Given the description of an element on the screen output the (x, y) to click on. 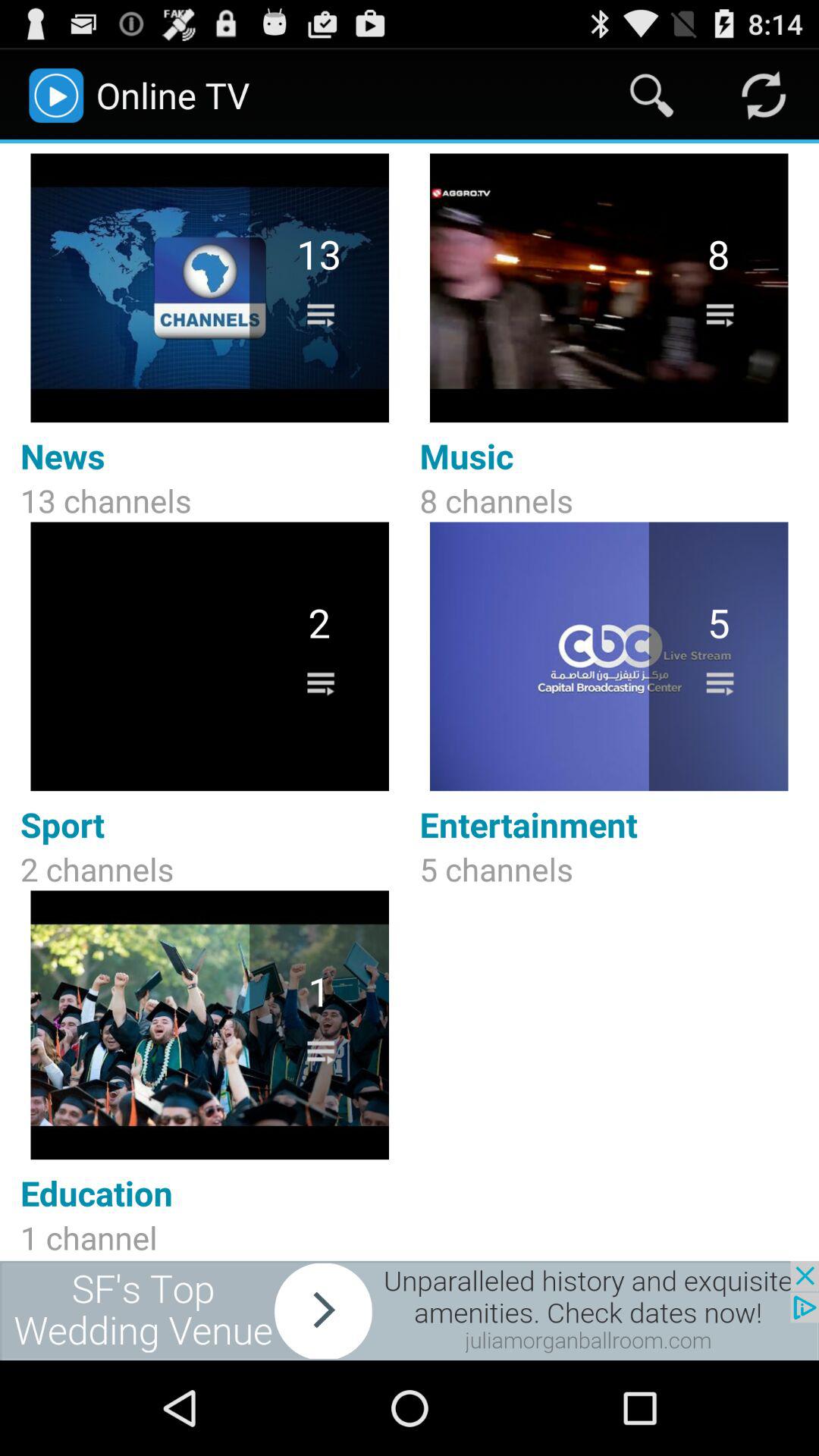
search option (651, 95)
